Given the description of an element on the screen output the (x, y) to click on. 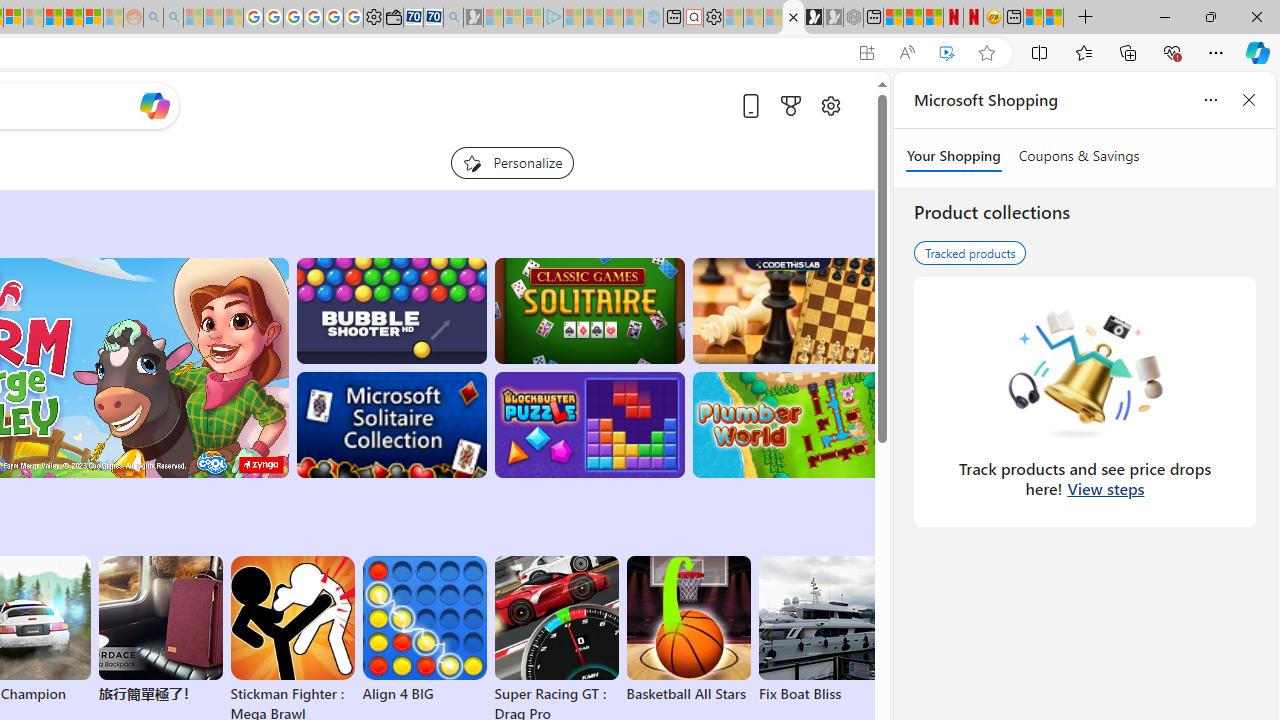
Kinda Frugal - MSN (73, 17)
Fix Boat Bliss (820, 694)
Master Chess (787, 310)
Classic Solitaire (589, 310)
Wildlife - MSN (1033, 17)
